Given the description of an element on the screen output the (x, y) to click on. 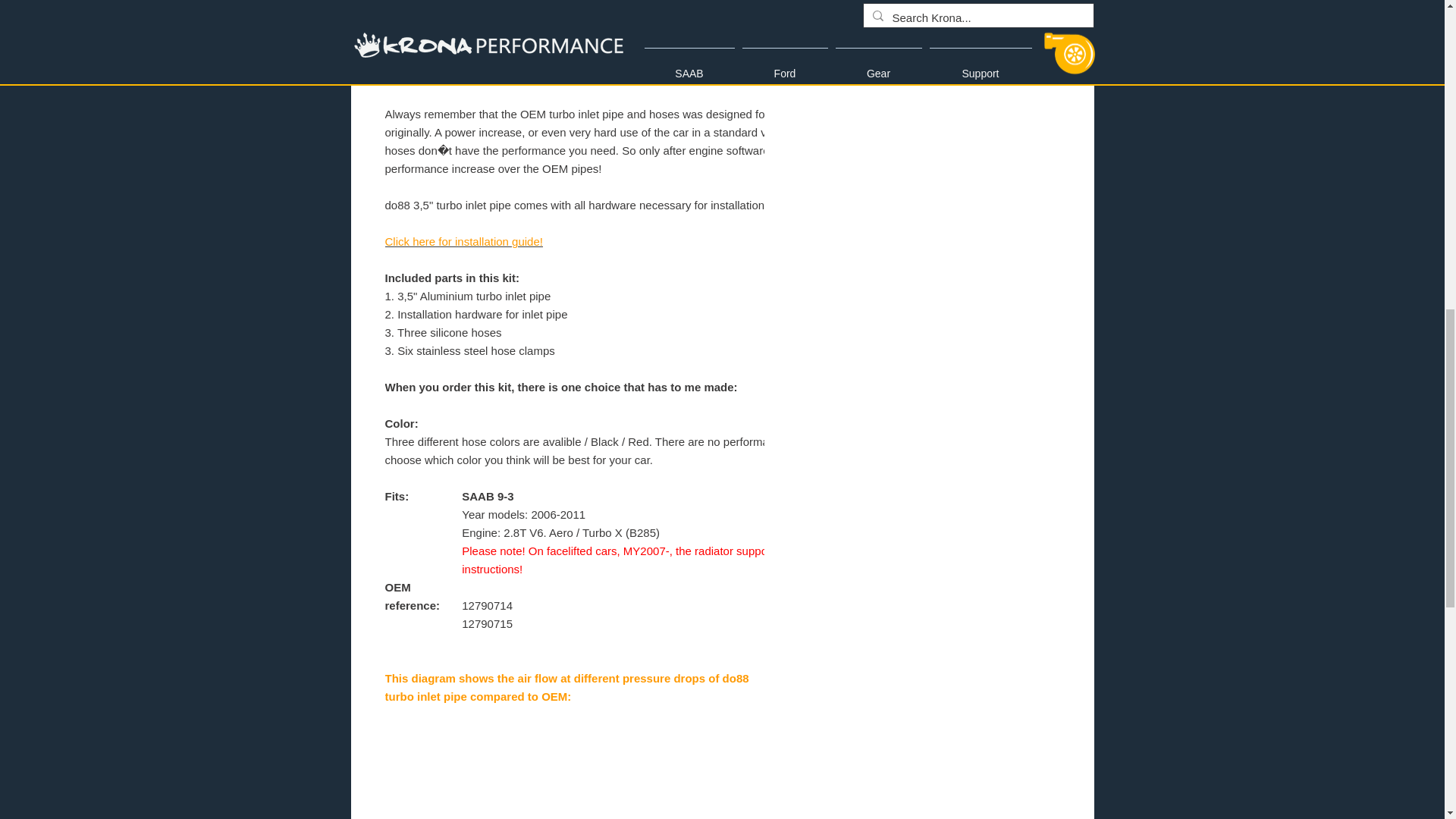
Click here for installation guide! (464, 241)
